Given the description of an element on the screen output the (x, y) to click on. 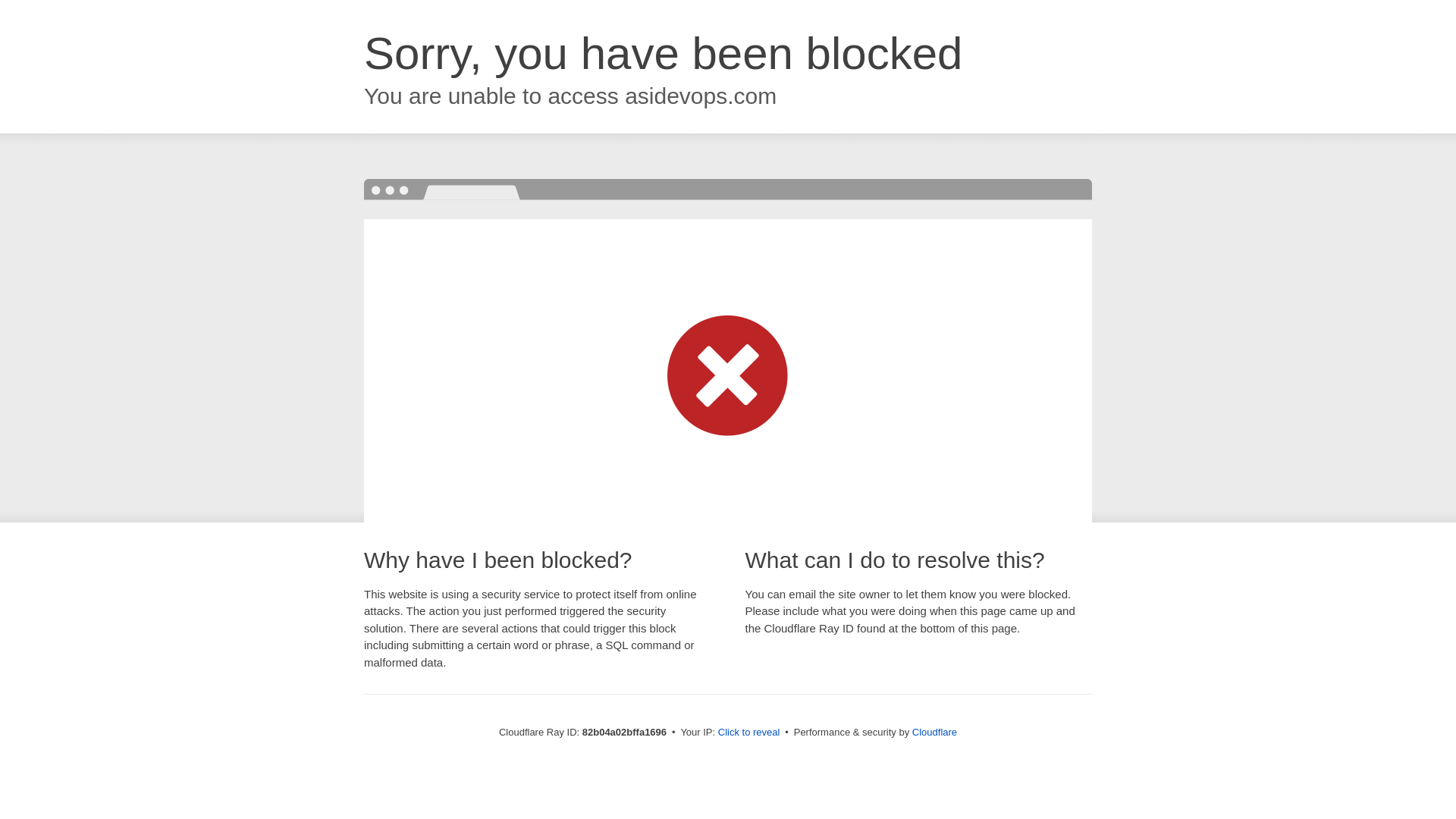
Click to reveal Element type: text (749, 732)
Cloudflare Element type: text (934, 731)
